Given the description of an element on the screen output the (x, y) to click on. 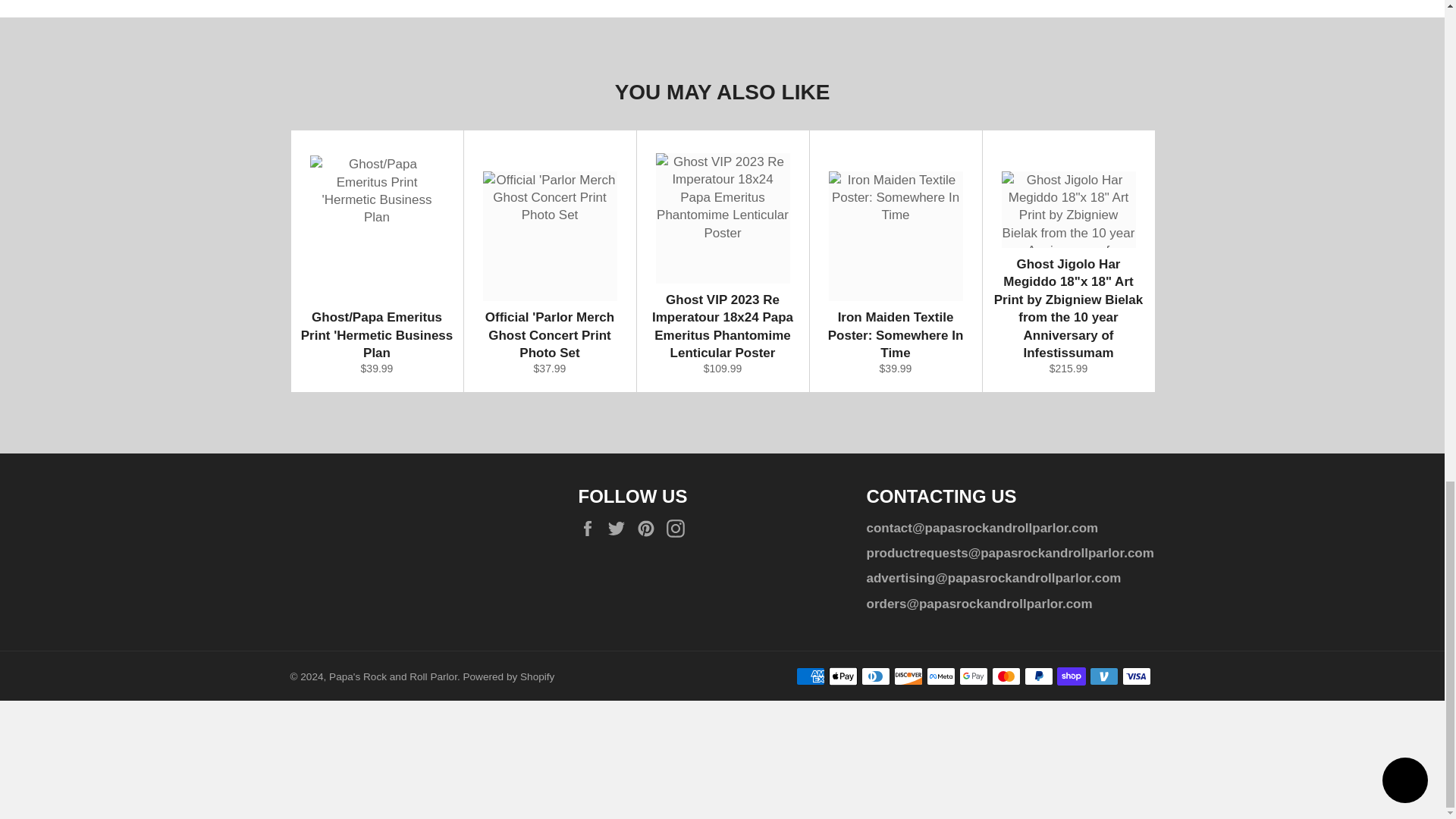
Papa's Rock and Roll Parlor on Instagram (679, 528)
Papa's Rock and Roll Parlor on Facebook (591, 528)
Papa's Rock and Roll Parlor on Pinterest (649, 528)
Papa's Rock and Roll Parlor on Twitter (620, 528)
